Given the description of an element on the screen output the (x, y) to click on. 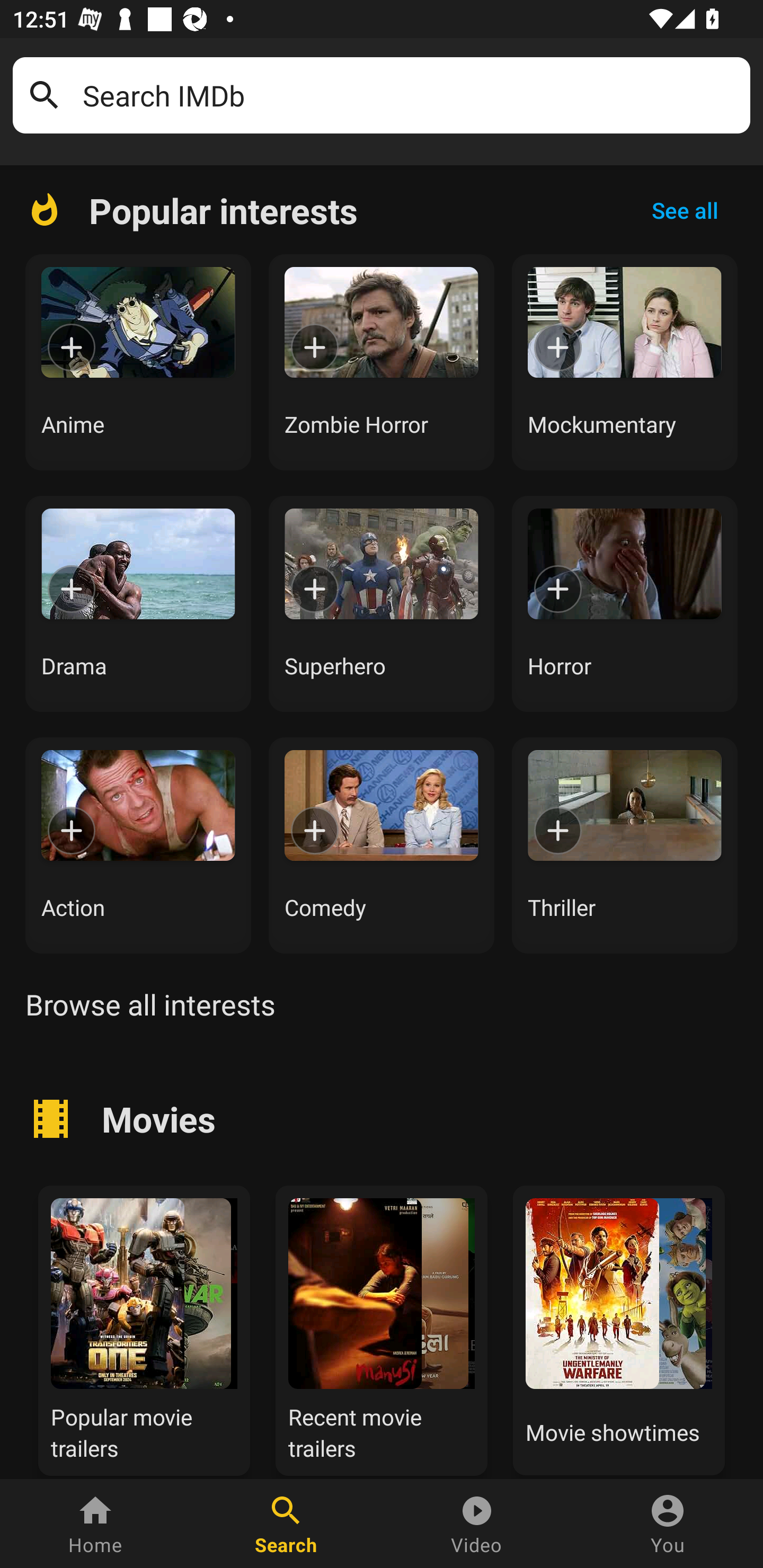
Search IMDb (410, 95)
See all (684, 209)
Anime (138, 361)
Zombie Horror (381, 361)
Mockumentary (624, 361)
Drama (138, 603)
Superhero (381, 603)
Horror (624, 603)
Action (138, 844)
Comedy (381, 844)
Thriller (624, 844)
